Given the description of an element on the screen output the (x, y) to click on. 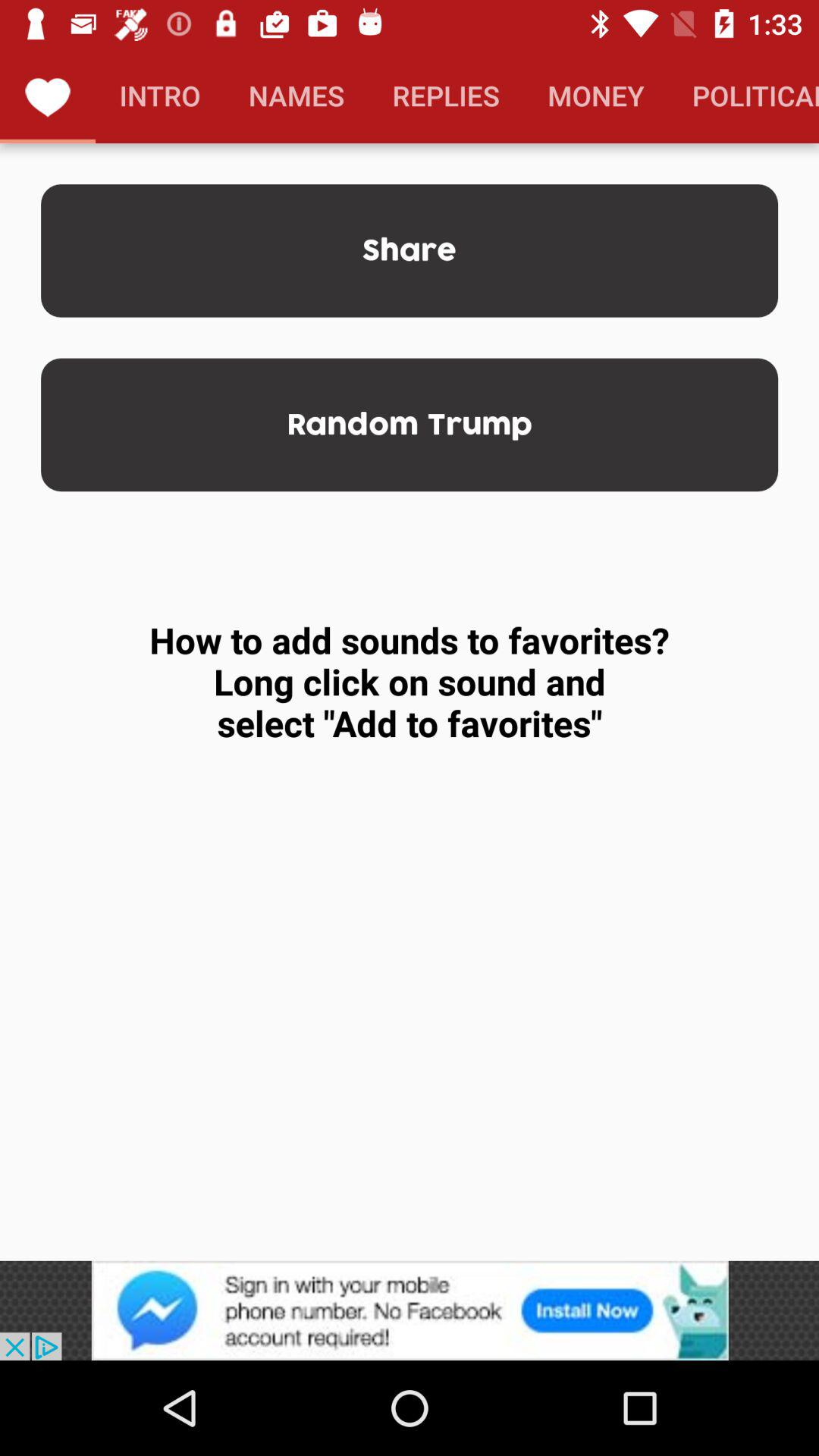
open advertisement (409, 1310)
